Given the description of an element on the screen output the (x, y) to click on. 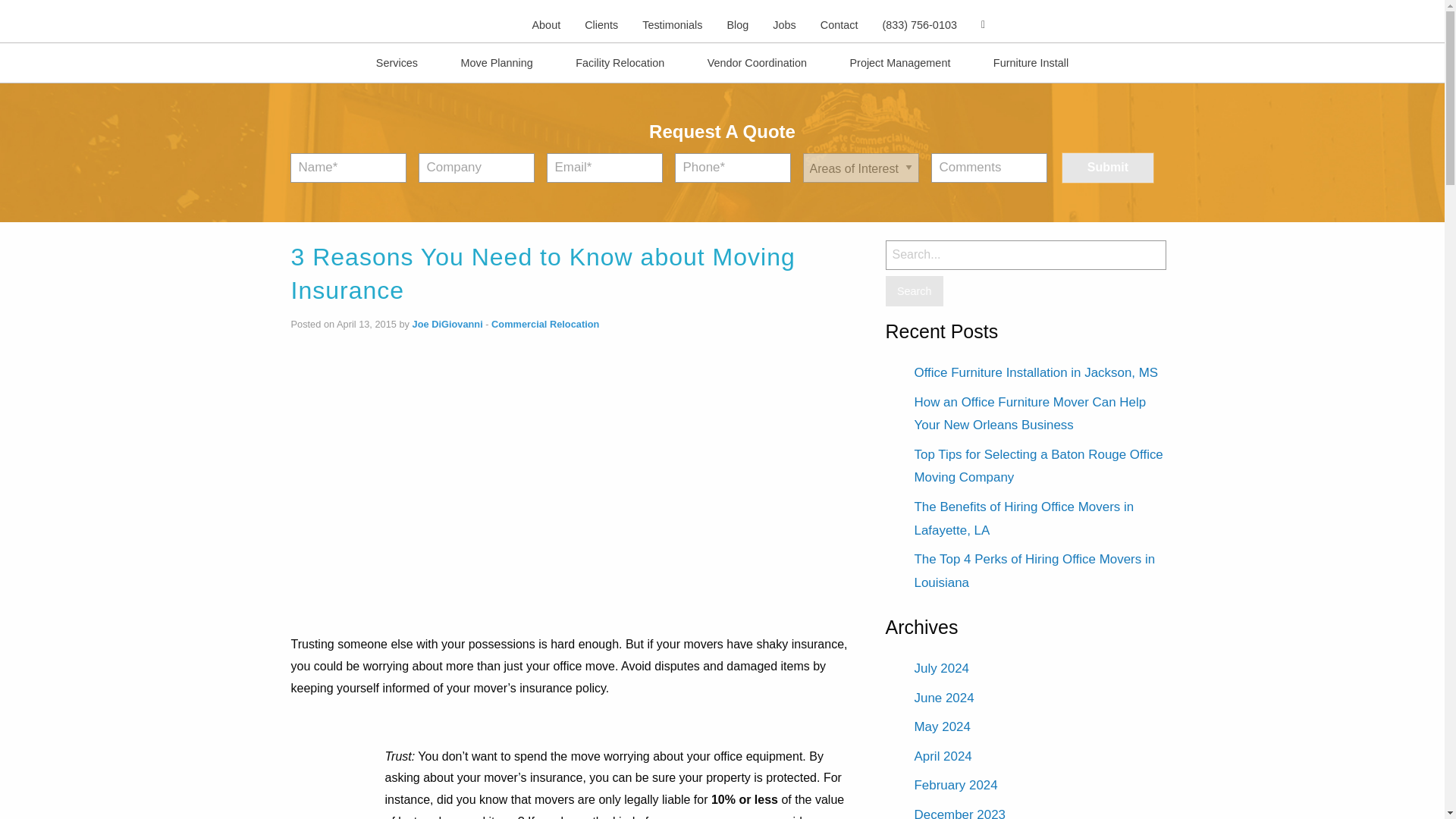
Project Management (899, 62)
Clients (601, 24)
Search for: (1025, 255)
Testimonials (672, 24)
Posts by Joe DiGiovanni (447, 324)
Vendor Coordination (756, 62)
Search (914, 291)
Contact (839, 24)
Blog (737, 24)
Facility Relocation (620, 62)
